Given the description of an element on the screen output the (x, y) to click on. 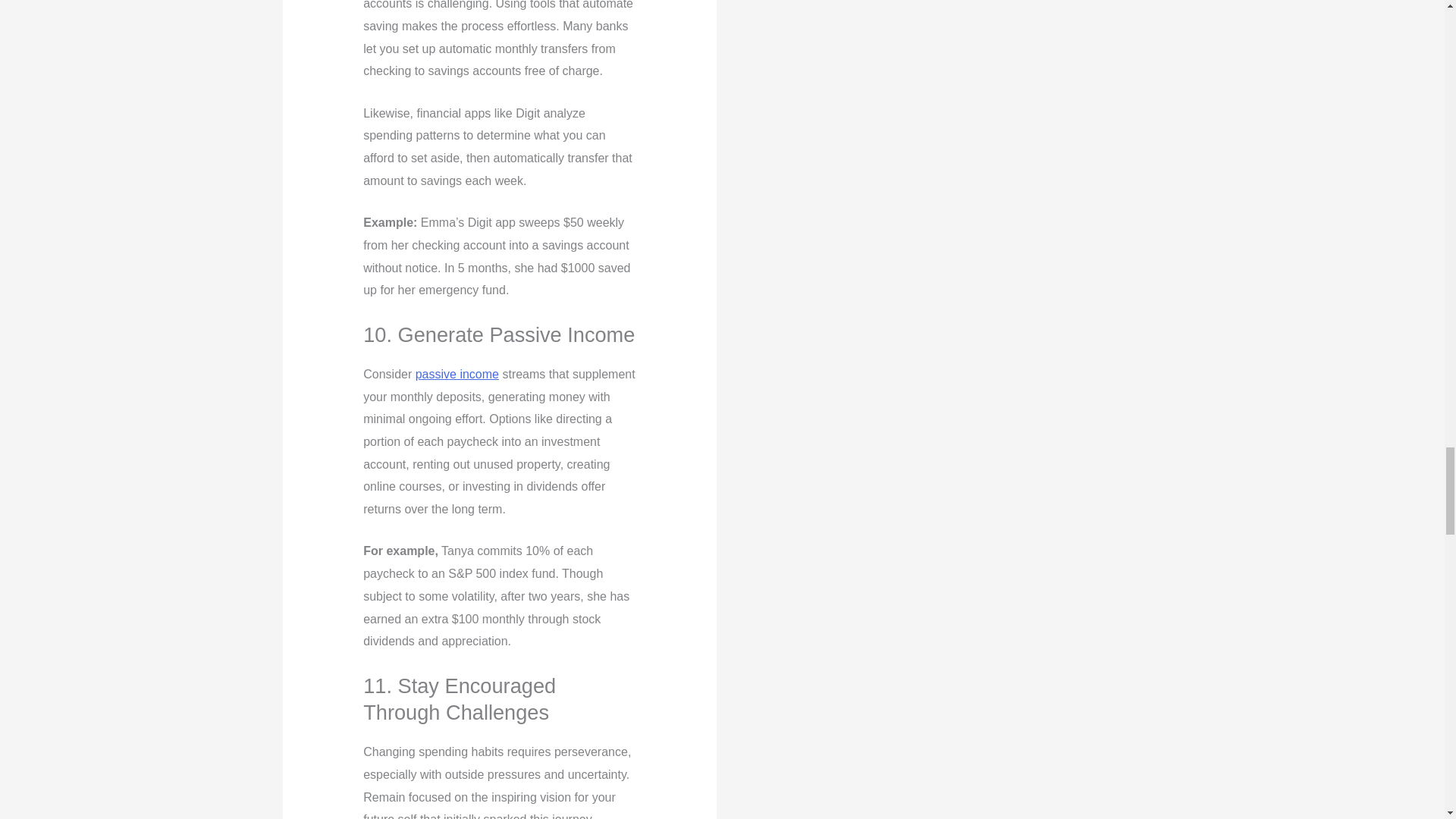
passive income (456, 373)
